Given the description of an element on the screen output the (x, y) to click on. 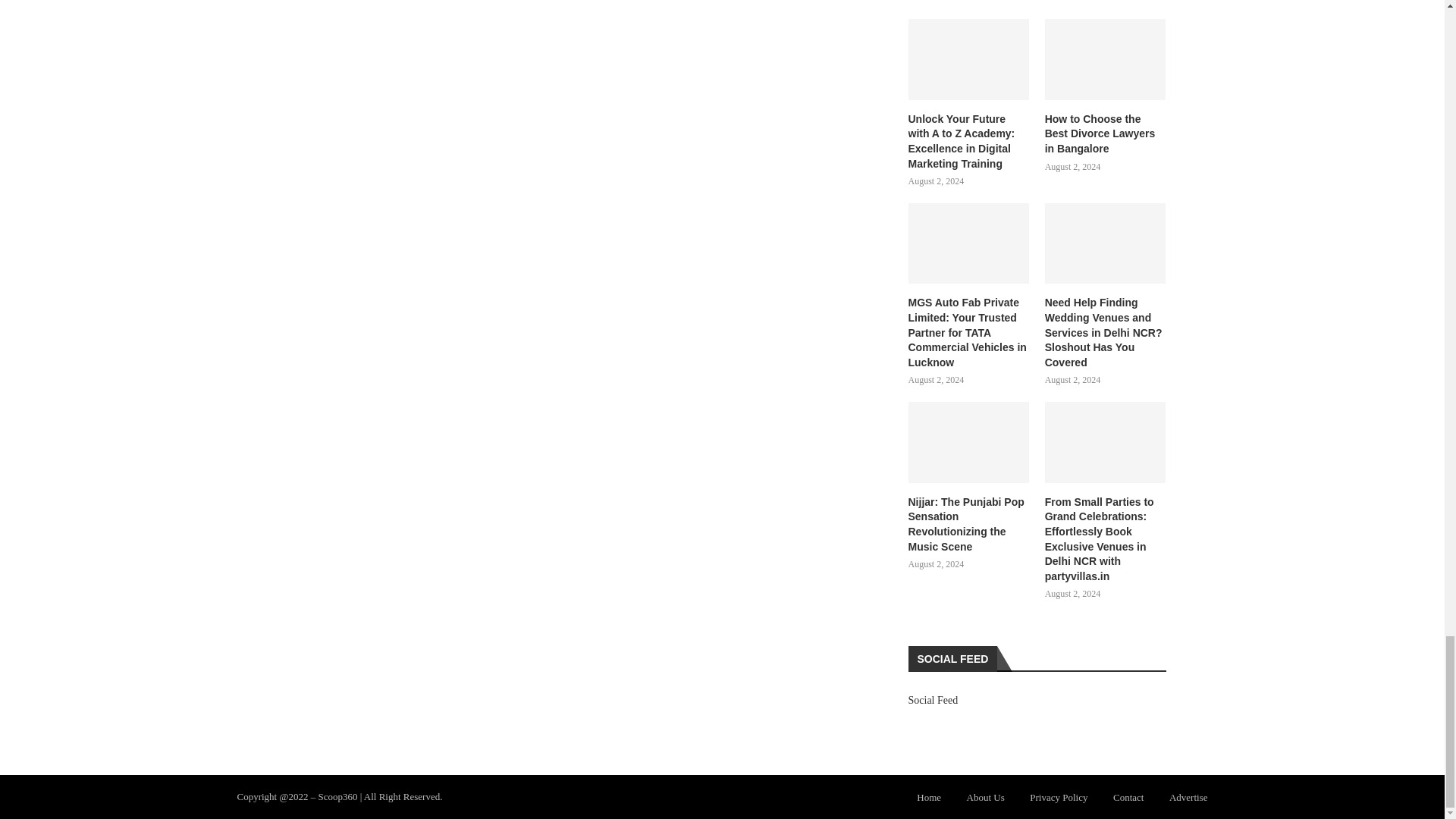
How to Choose the Best Divorce Lawyers in Bangalore (1105, 134)
How to Choose the Best Divorce Lawyers in Bangalore (1105, 58)
